Given the description of an element on the screen output the (x, y) to click on. 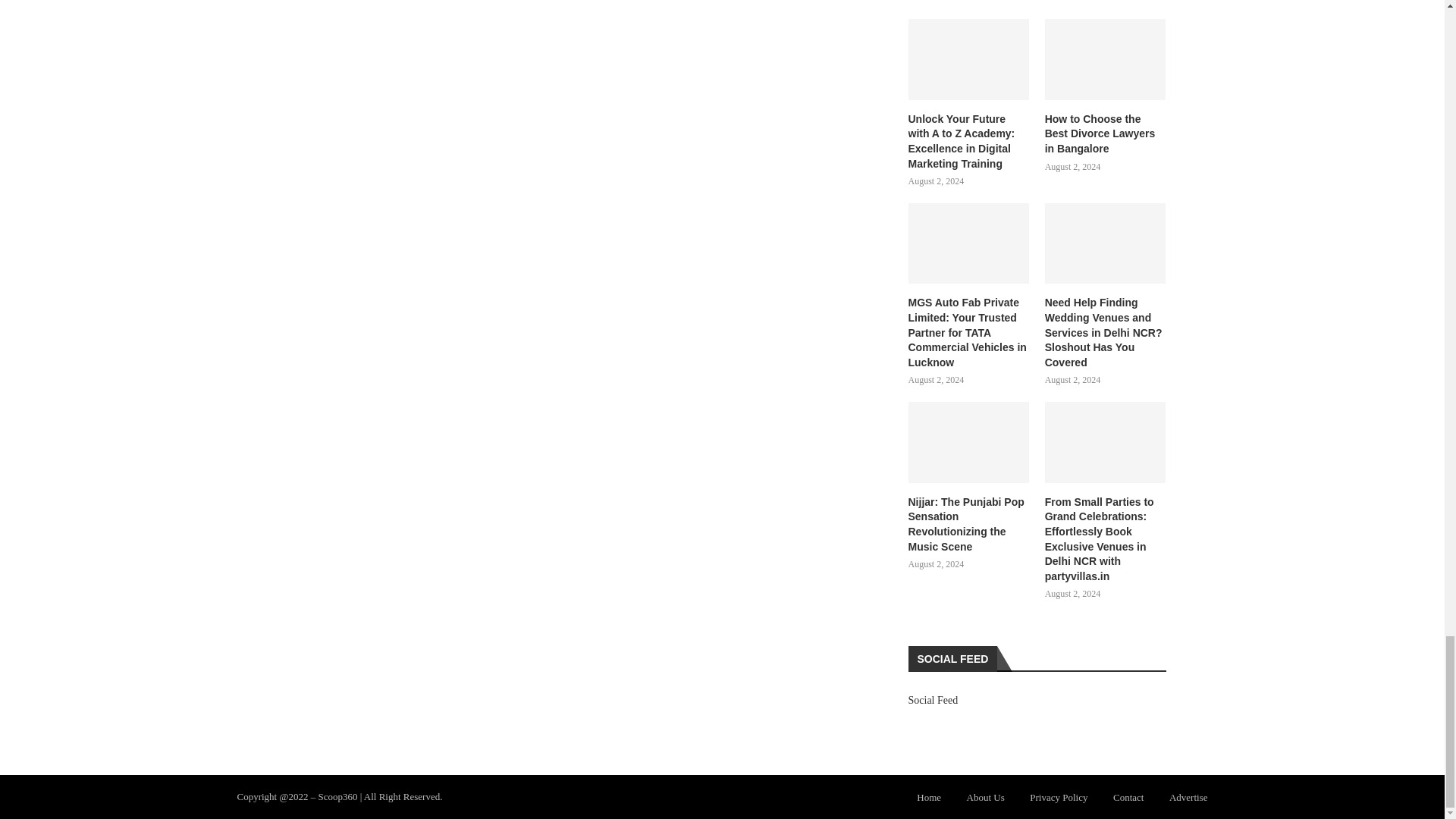
How to Choose the Best Divorce Lawyers in Bangalore (1105, 134)
How to Choose the Best Divorce Lawyers in Bangalore (1105, 58)
